Given the description of an element on the screen output the (x, y) to click on. 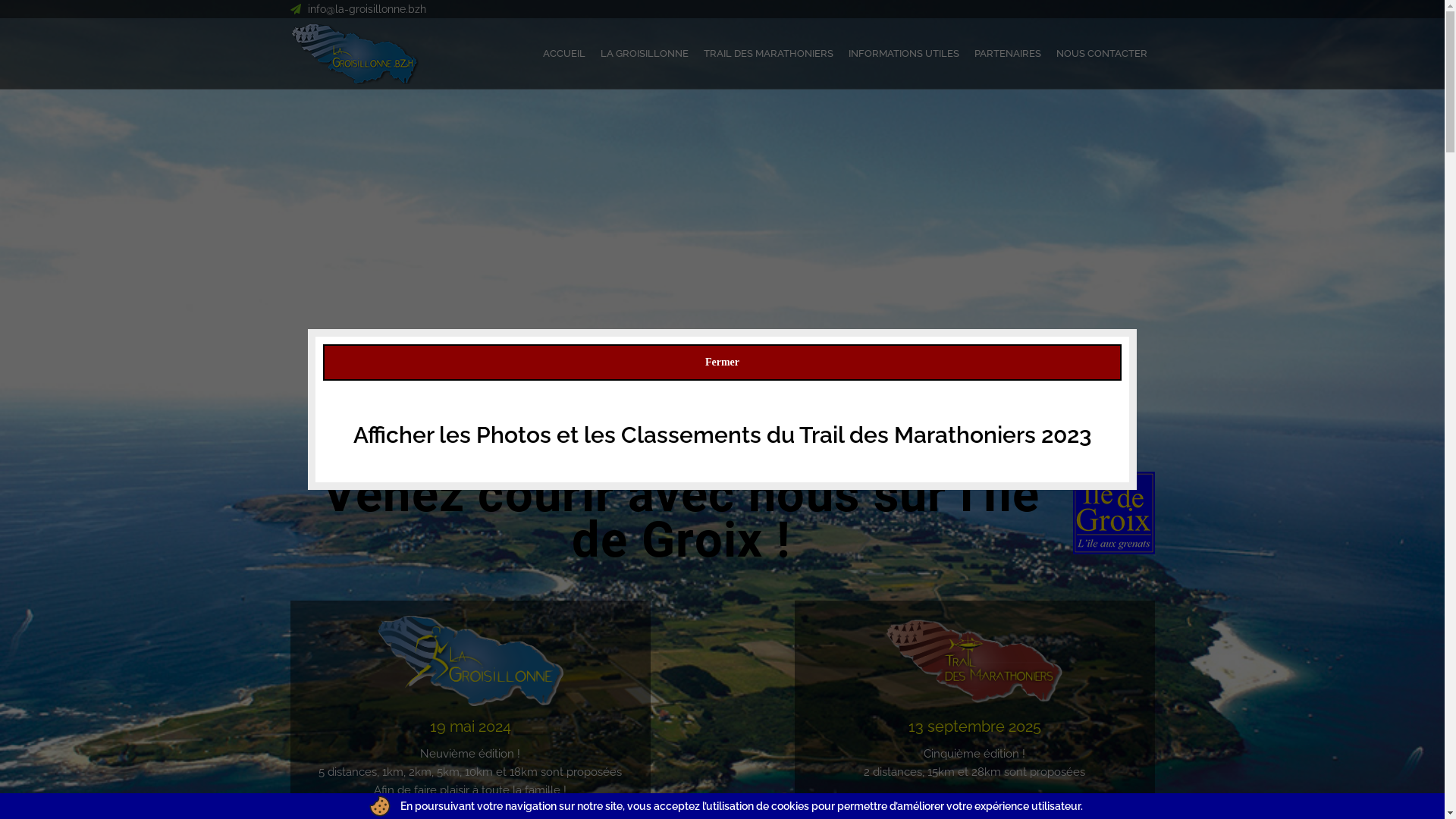
LA GROISILLONNE Element type: text (644, 56)
TRAIL DES MARATHONIERS Element type: text (768, 56)
INFORMATIONS UTILES Element type: text (903, 56)
NOUS CONTACTER Element type: text (1101, 56)
PARTENAIRES Element type: text (1007, 56)
ACCUEIL Element type: text (564, 56)
Fermer Element type: text (722, 362)
info@la-groisillonne.bzh Element type: text (366, 9)
